Given the description of an element on the screen output the (x, y) to click on. 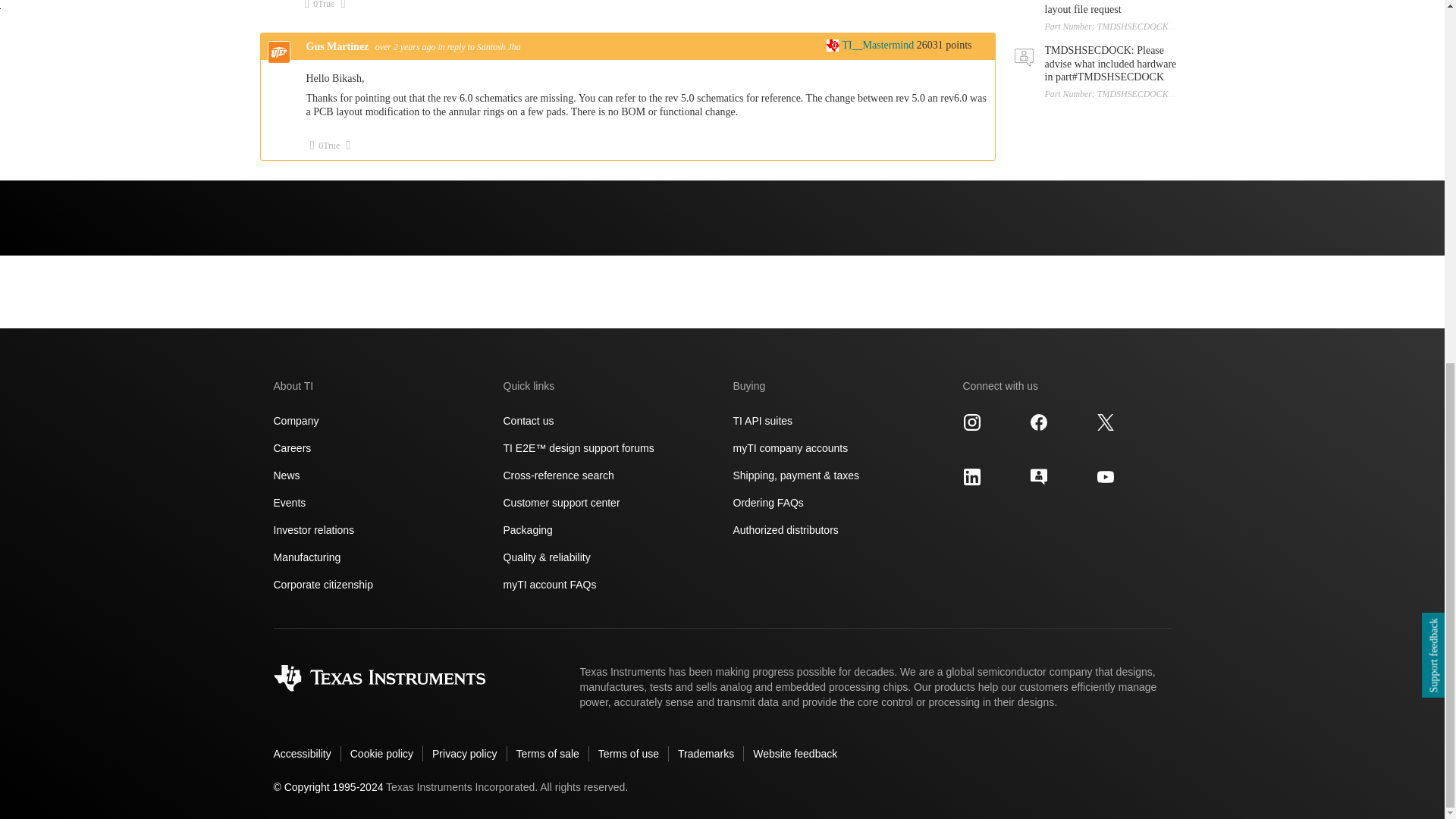
Click here for explanation of levels (871, 44)
instagram (971, 422)
linkedin (971, 476)
twitter (1105, 422)
facebook (1038, 422)
